Given the description of an element on the screen output the (x, y) to click on. 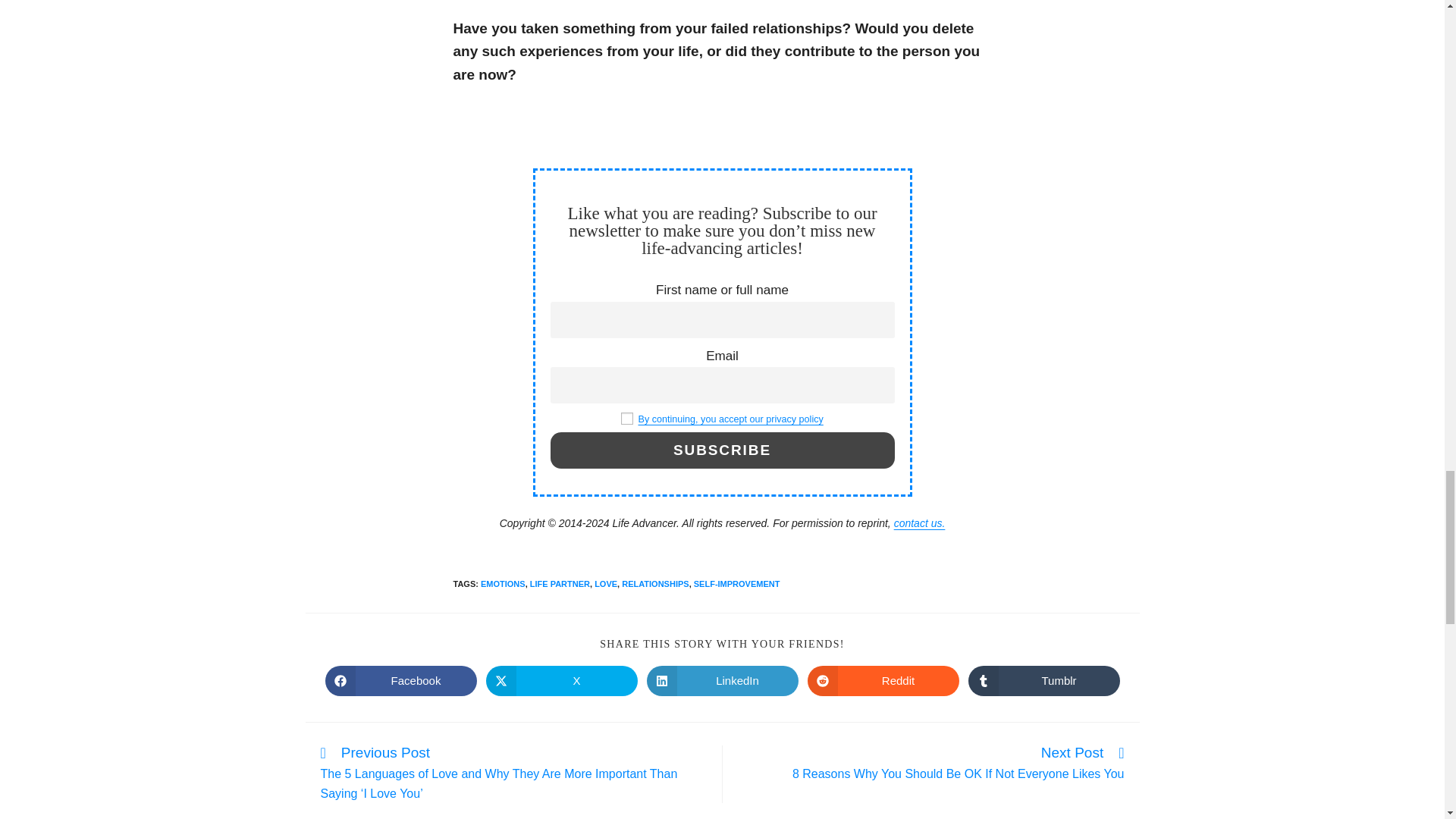
contact us (918, 522)
on (627, 418)
blog policy (729, 419)
Subscribe (722, 450)
